Given the description of an element on the screen output the (x, y) to click on. 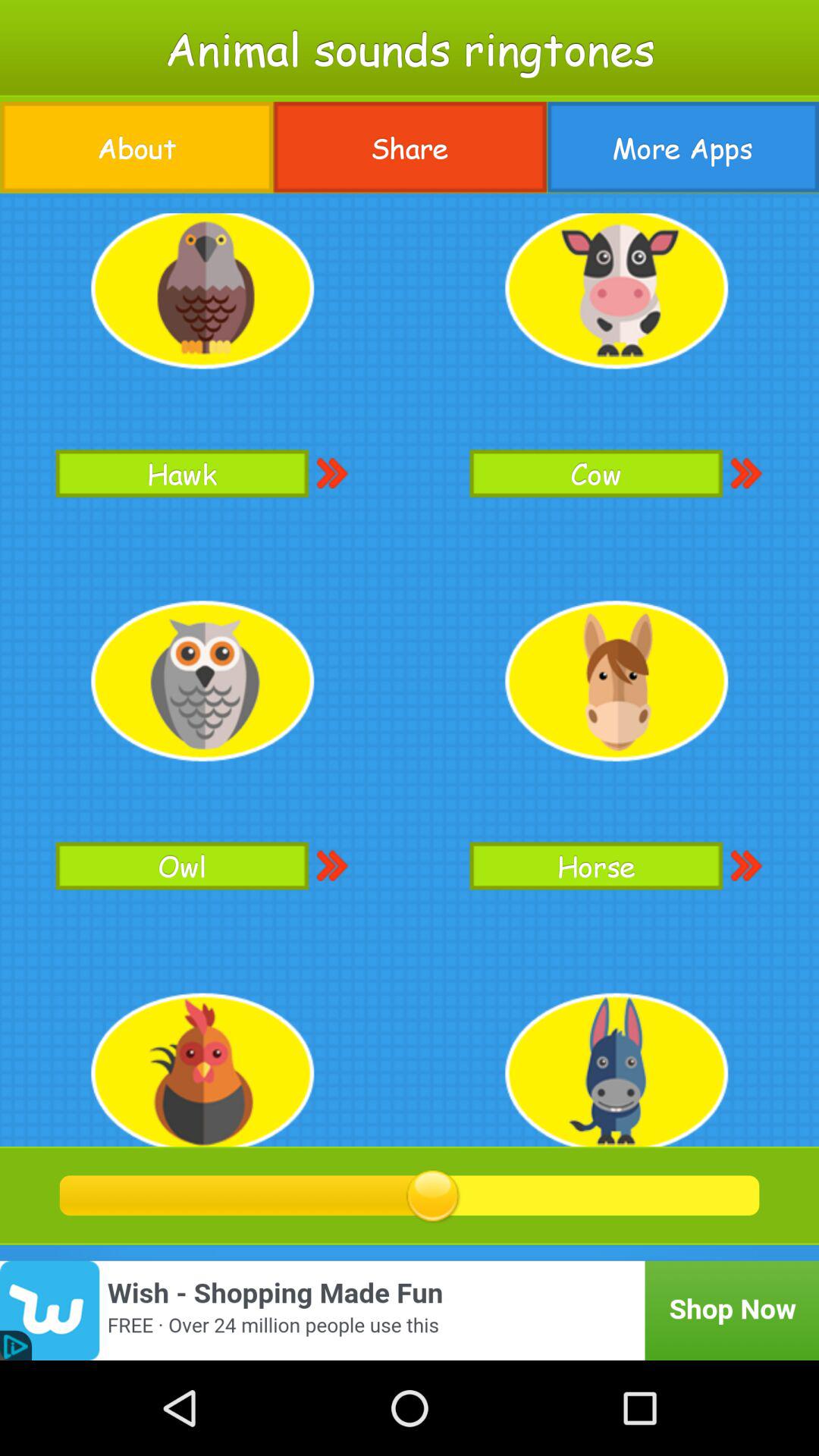
scroll to cow button (595, 473)
